Given the description of an element on the screen output the (x, y) to click on. 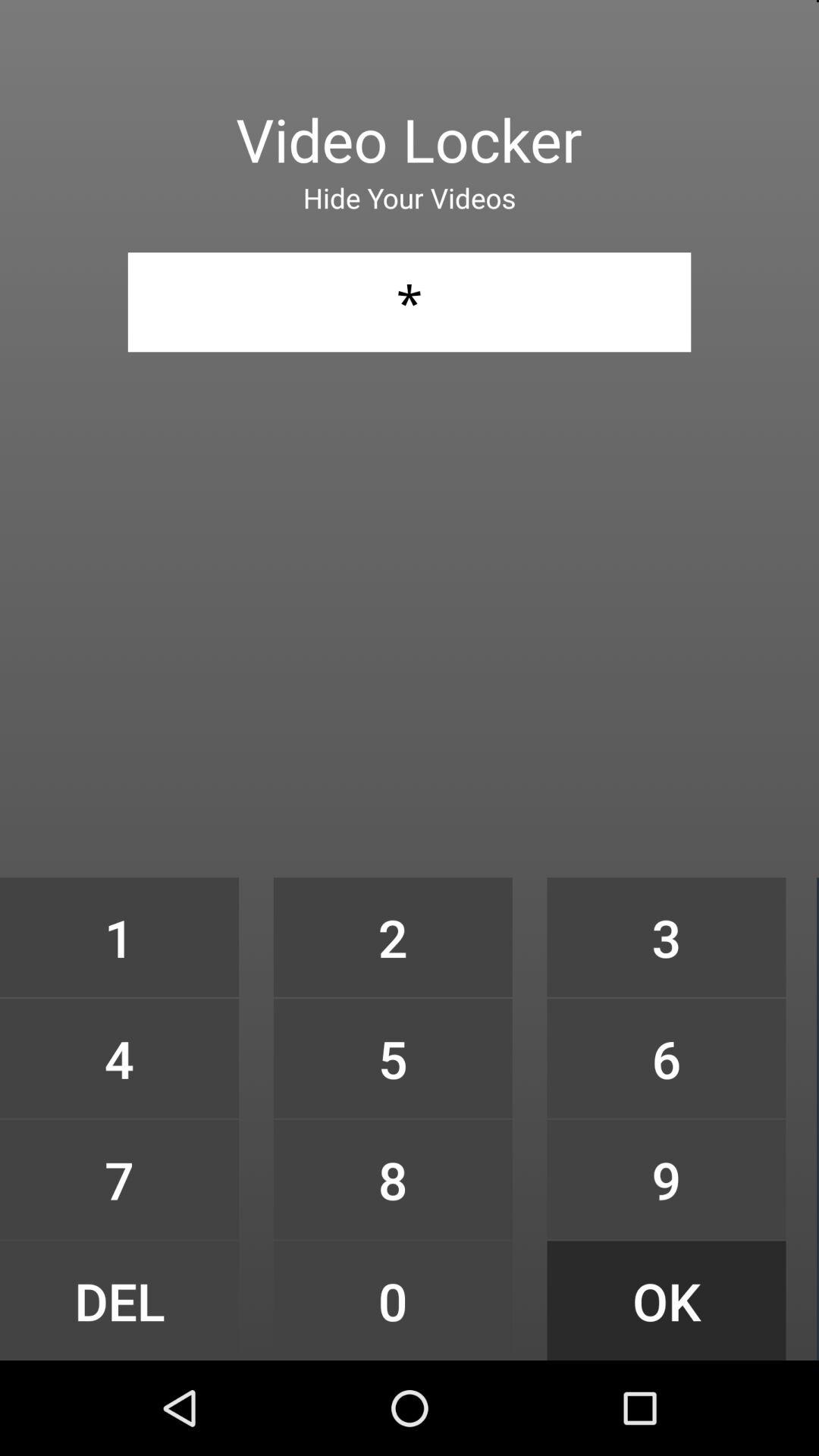
turn on item to the left of the 9 item (392, 1300)
